Given the description of an element on the screen output the (x, y) to click on. 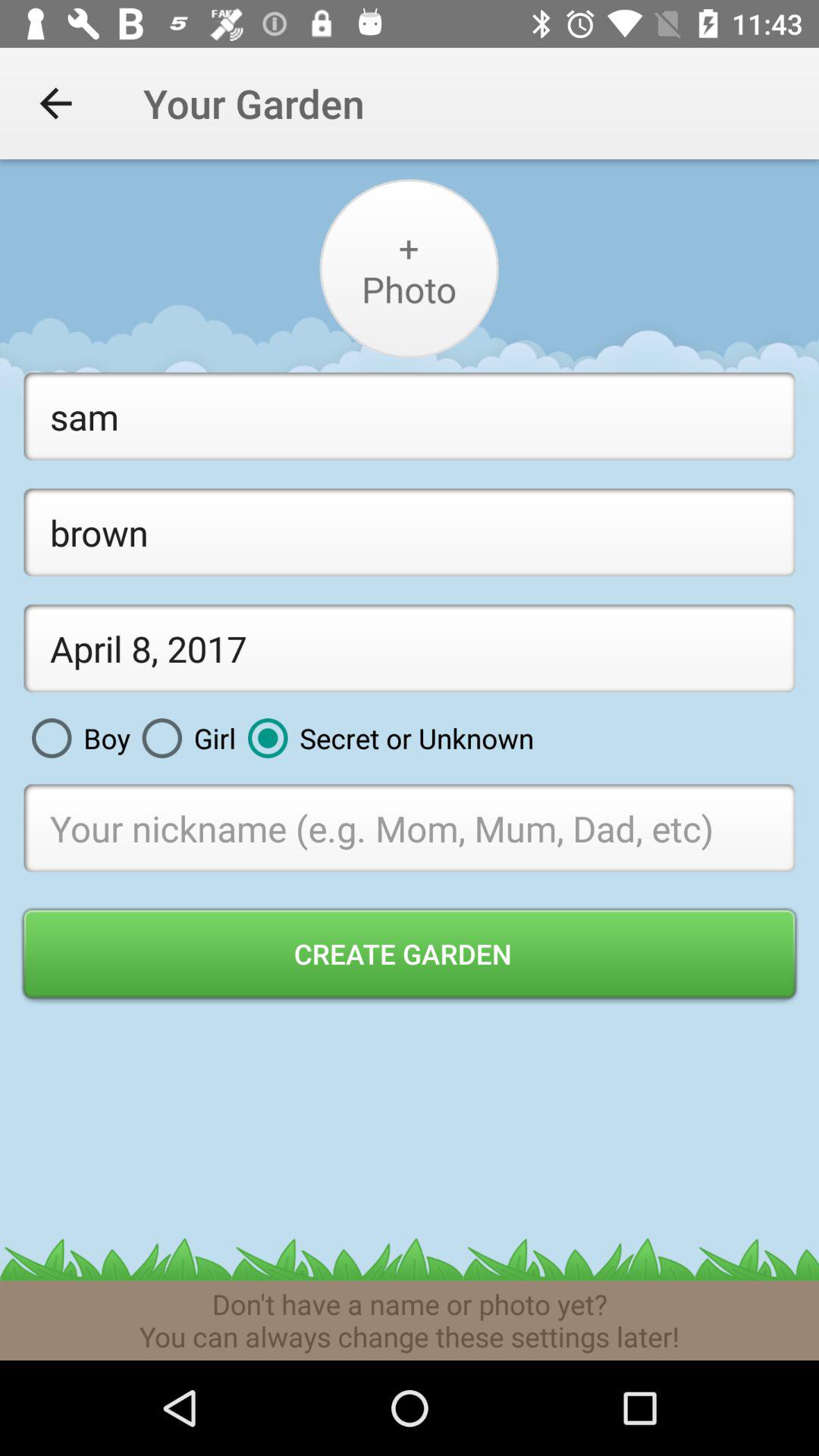
add photo (408, 268)
